Given the description of an element on the screen output the (x, y) to click on. 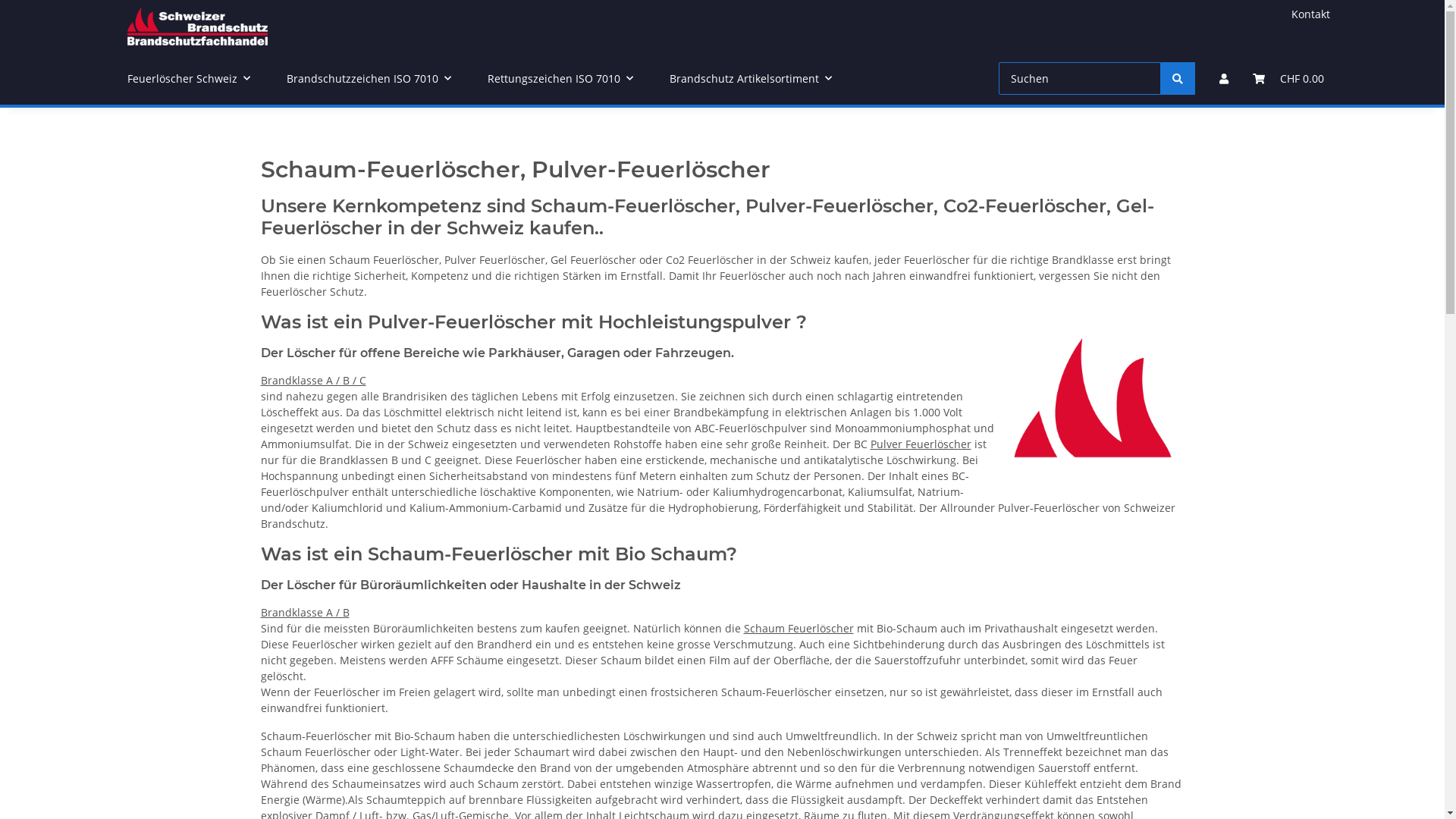
Brandklasse A / B / C Element type: text (313, 380)
Brandklasse A / B Element type: text (304, 612)
Brandschutz Artikelsortiment Element type: text (749, 78)
Brandschutzzeichen ISO 7010 Element type: text (368, 78)
Rettungszeichen ISO 7010 Element type: text (559, 78)
Kontakt Element type: text (1310, 14)
CHF 0.00 Element type: text (1288, 78)
Alarm118 Element type: hover (197, 26)
